Given the description of an element on the screen output the (x, y) to click on. 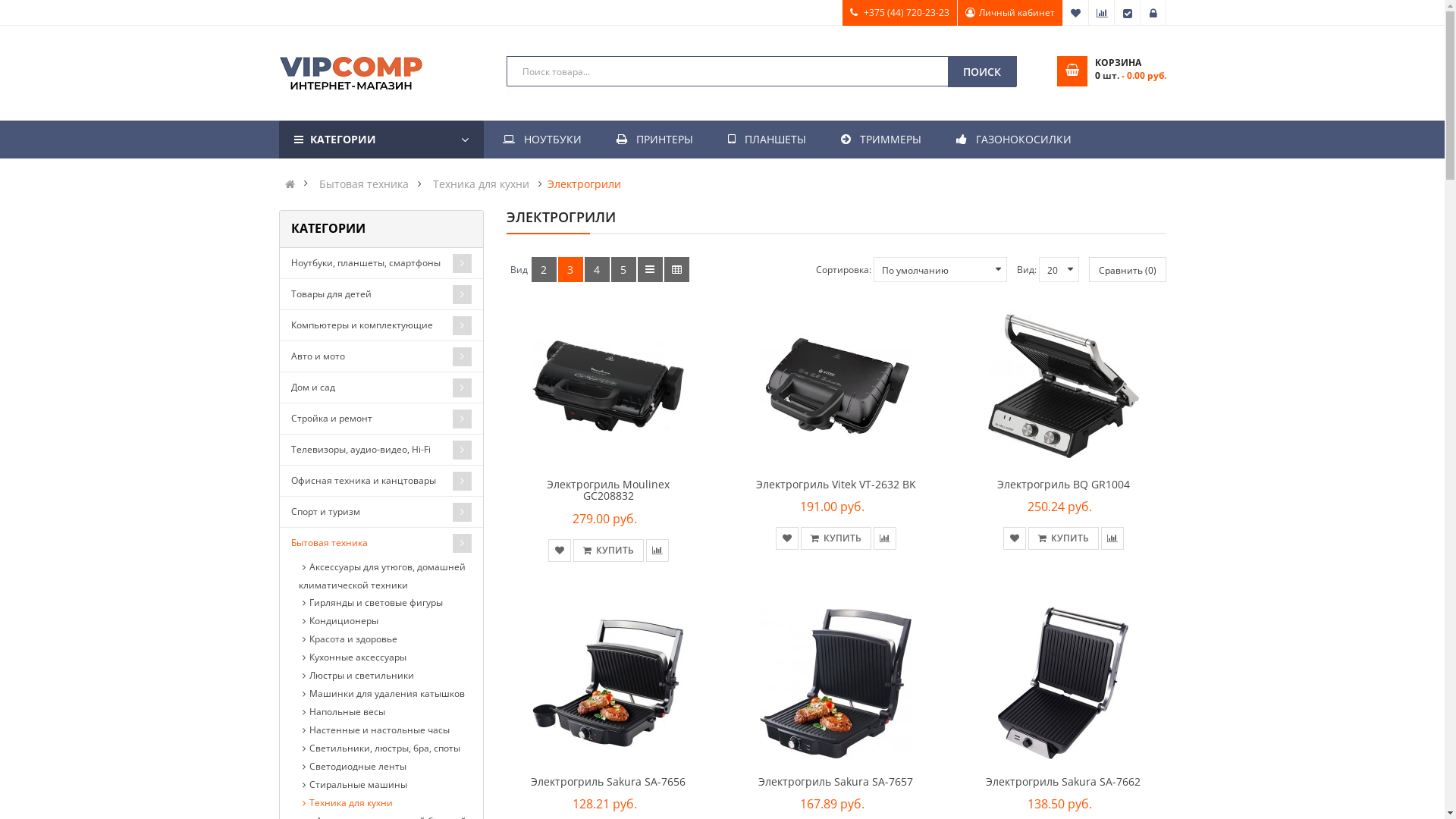
+375 (44) 720-23-23 Element type: text (899, 12)
4 Element type: text (595, 269)
5 Element type: text (623, 269)
3 Element type: text (570, 269)
2 Element type: text (542, 269)
